Given the description of an element on the screen output the (x, y) to click on. 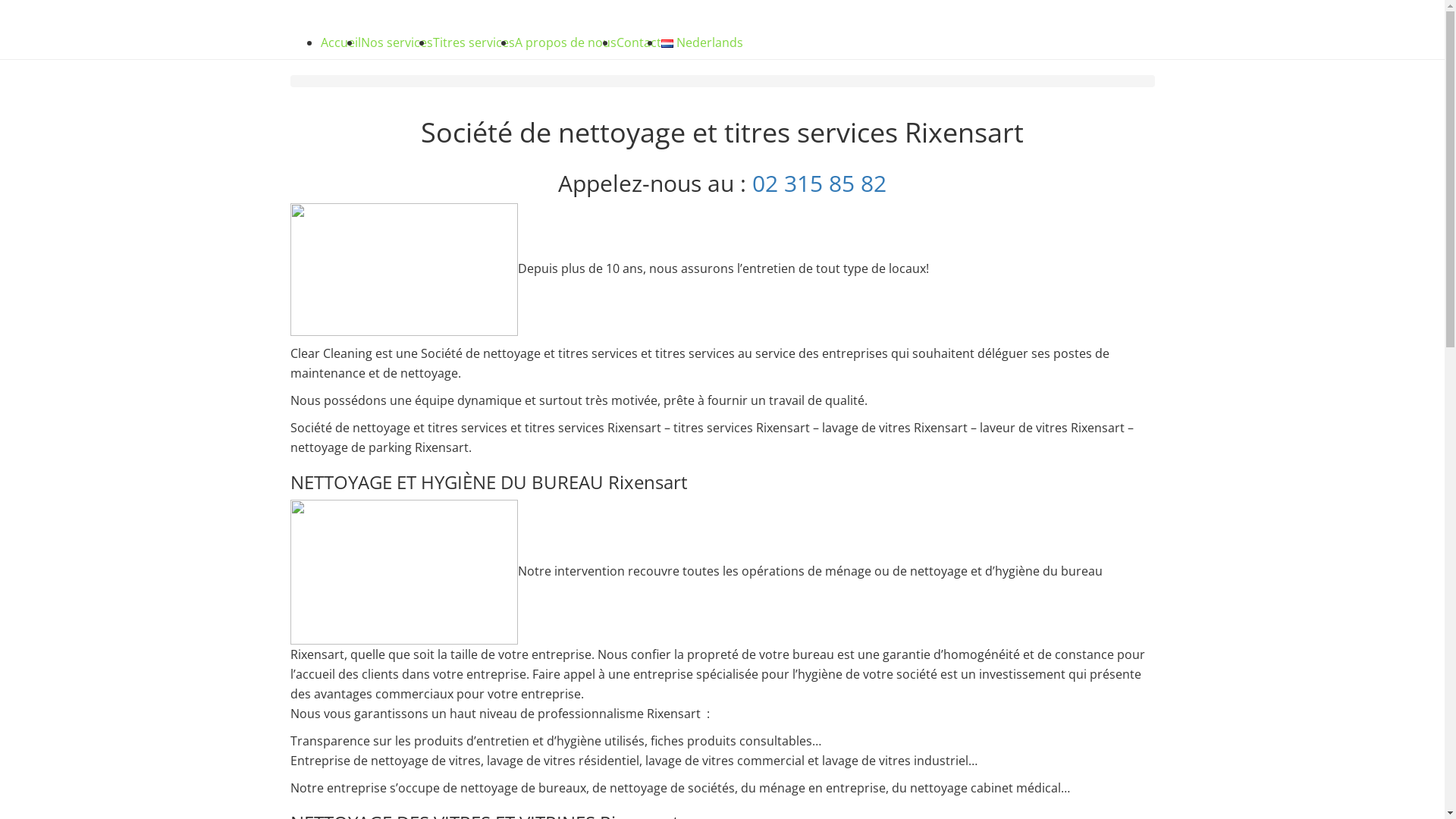
02 315 85 82 Element type: text (819, 182)
Nos services Element type: text (396, 42)
A propos de nous Element type: text (564, 42)
Contact Element type: text (637, 42)
Nederlands Element type: text (702, 42)
Accueil Element type: text (340, 42)
Titres services Element type: text (473, 42)
Nederlands Element type: hover (667, 43)
